Given the description of an element on the screen output the (x, y) to click on. 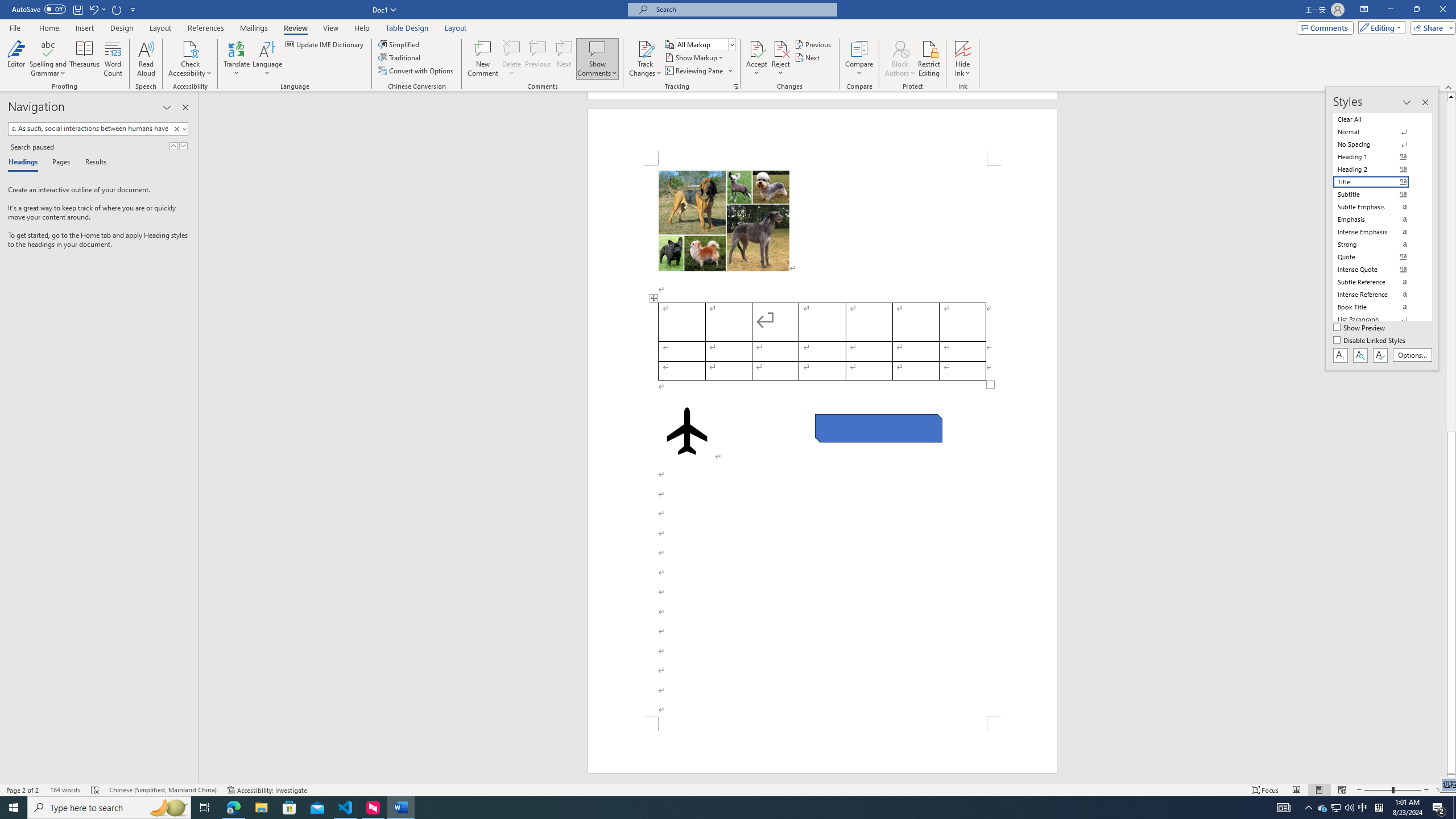
View (330, 28)
Zoom (1392, 790)
Check Accessibility (189, 58)
Subtitle (1377, 194)
Undo Style (96, 9)
Headings (25, 162)
Rectangle: Diagonal Corners Snipped 2 (878, 428)
Show Comments (597, 48)
Restrict Editing (929, 58)
Word Count (113, 58)
References (205, 28)
Design (122, 28)
Track Changes (644, 58)
Track Changes (644, 48)
Class: MsoCommandBar (728, 45)
